Given the description of an element on the screen output the (x, y) to click on. 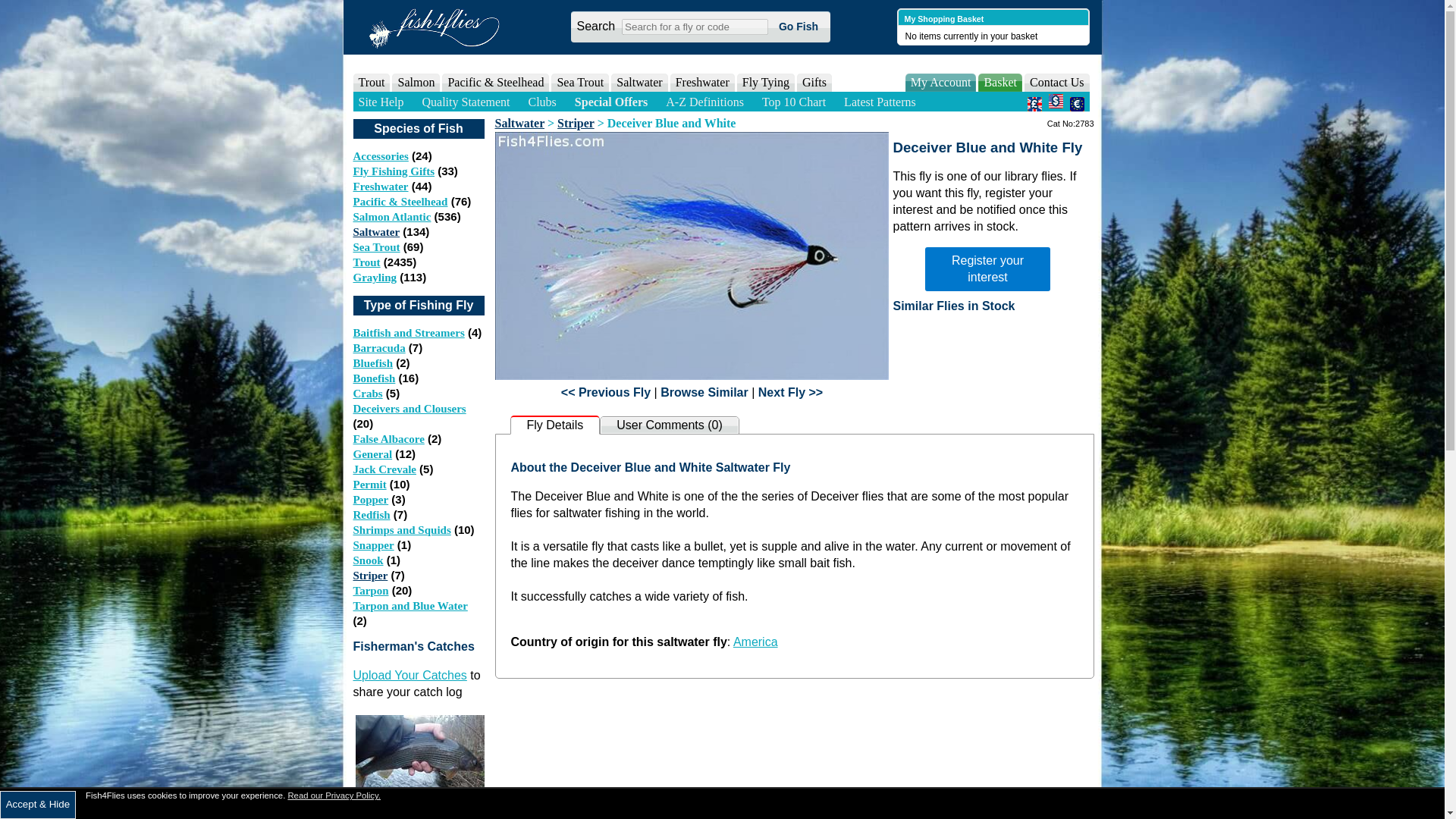
Trout (371, 82)
